Given the description of an element on the screen output the (x, y) to click on. 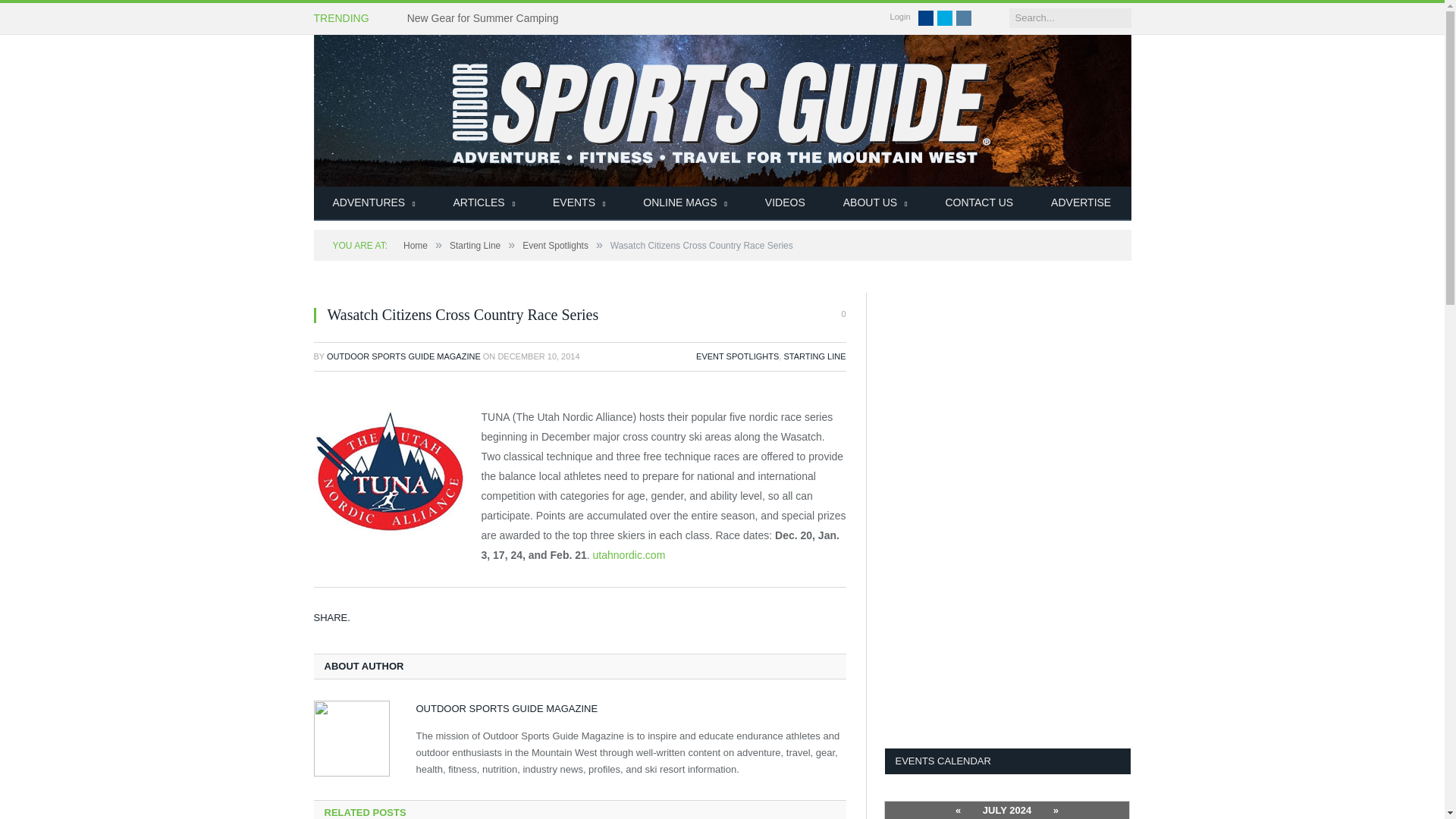
ARTICLES (483, 203)
Instagram (963, 17)
Twitter (944, 17)
New Gear for Summer Camping (486, 18)
Facebook (925, 17)
New Gear for Summer Camping (486, 18)
Login (900, 16)
Twitter (944, 17)
Outdoor Sports Guide Magazine (721, 110)
Instagram (963, 17)
ADVENTURES (373, 203)
Facebook (925, 17)
